Given the description of an element on the screen output the (x, y) to click on. 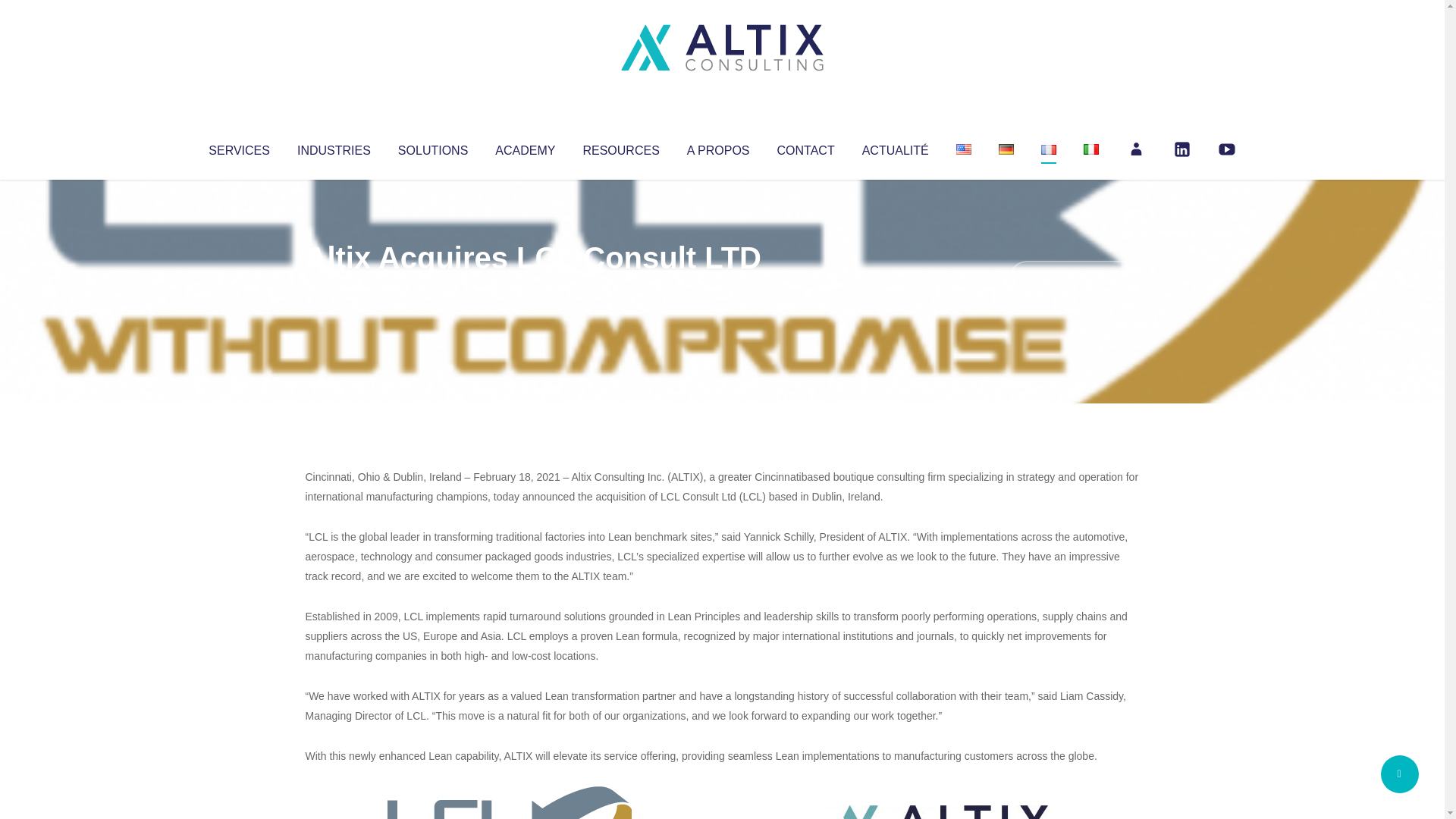
SOLUTIONS (432, 146)
No Comments (1073, 278)
INDUSTRIES (334, 146)
RESOURCES (620, 146)
Uncategorized (530, 287)
Articles par Altix (333, 287)
ACADEMY (524, 146)
SERVICES (238, 146)
Altix (333, 287)
A PROPOS (718, 146)
